Given the description of an element on the screen output the (x, y) to click on. 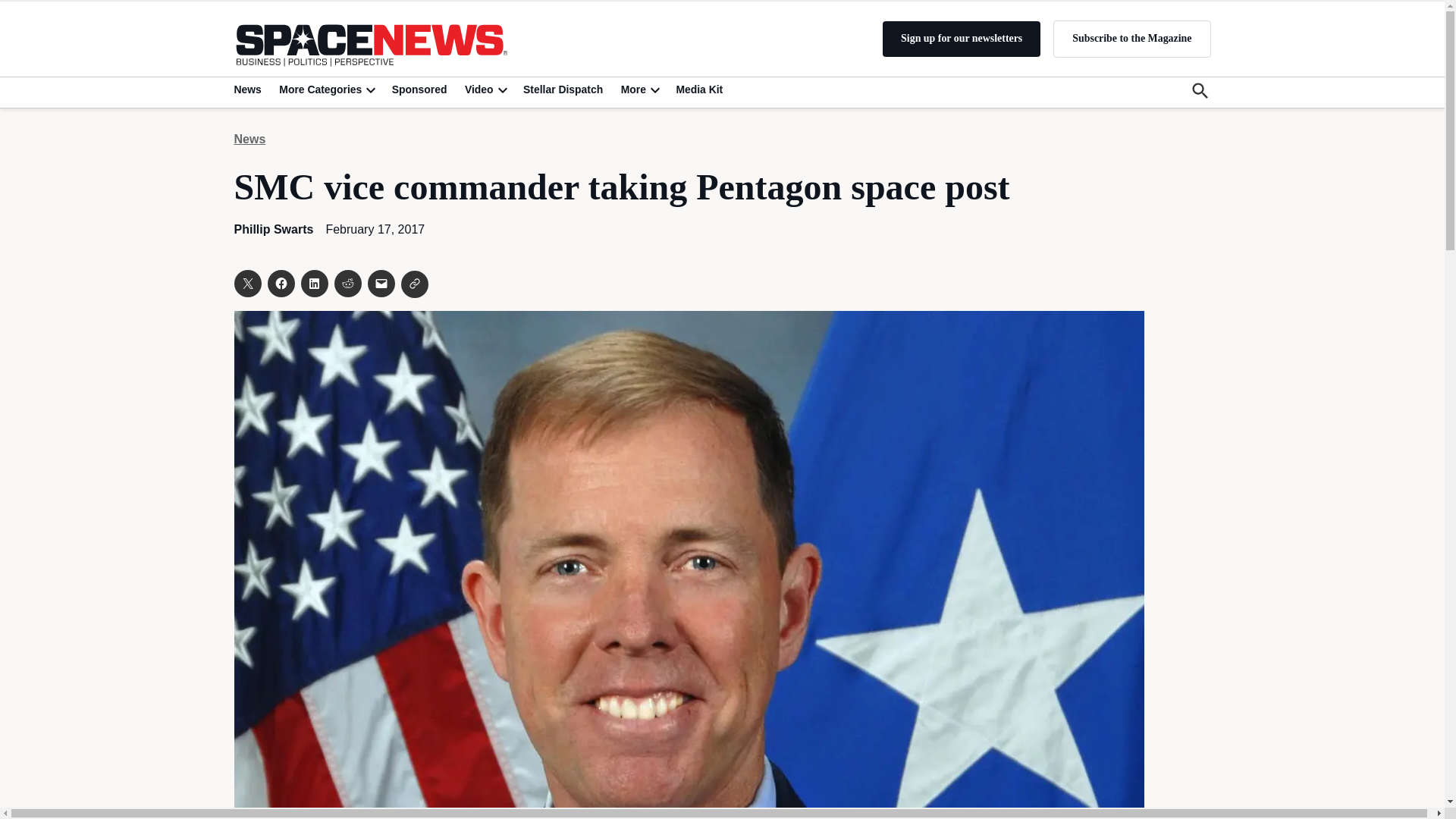
Click to share on X (246, 283)
Click to email a link to a friend (380, 283)
Click to share on Reddit (347, 283)
Subscribe to the Magazine (1130, 38)
Click to share on Clipboard (414, 284)
Sign up for our newsletters (961, 38)
Click to share on LinkedIn (313, 283)
Click to share on Facebook (280, 283)
